Given the description of an element on the screen output the (x, y) to click on. 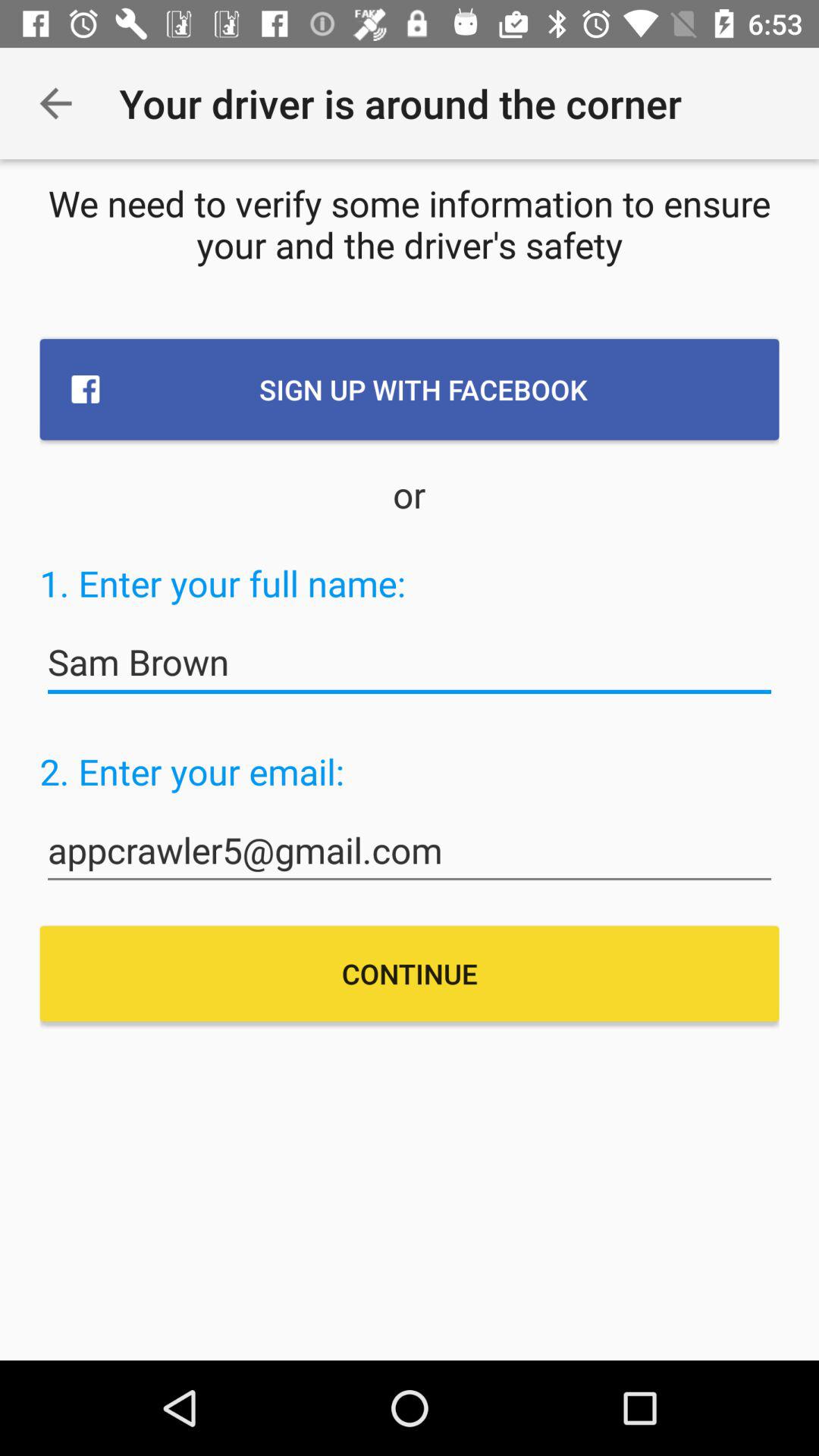
open the item below the 1 enter your item (409, 662)
